Given the description of an element on the screen output the (x, y) to click on. 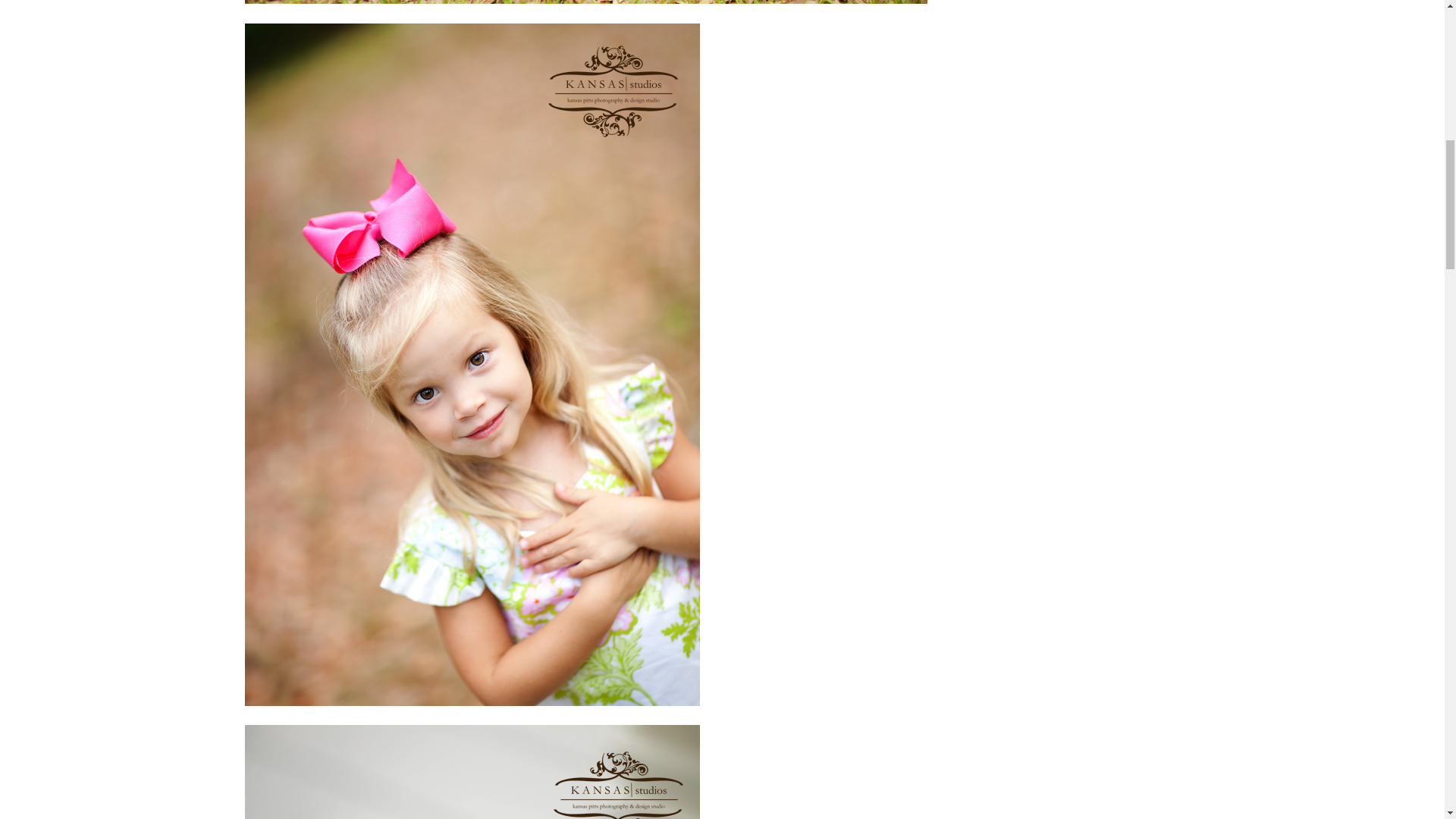
eden state garden pictures  (471, 771)
